Given the description of an element on the screen output the (x, y) to click on. 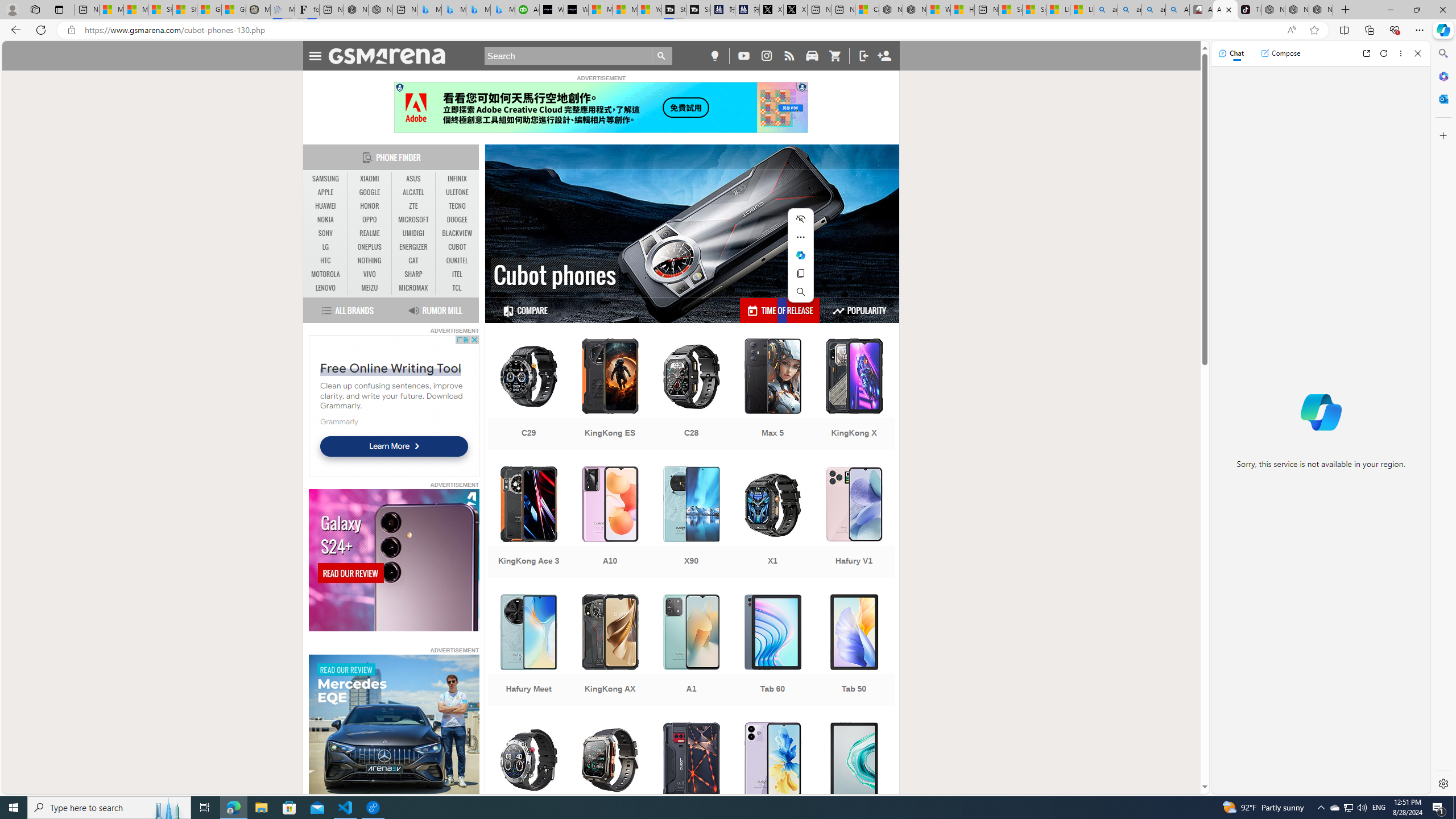
OUKITEL (457, 260)
Microsoft 365 (1442, 76)
GOOGLE (369, 192)
CUBOT (457, 246)
ITEL (457, 273)
Nordace - Siena Pro 15 Essential Set (1321, 9)
Max 5 (772, 395)
NOTHING (369, 260)
